Given the description of an element on the screen output the (x, y) to click on. 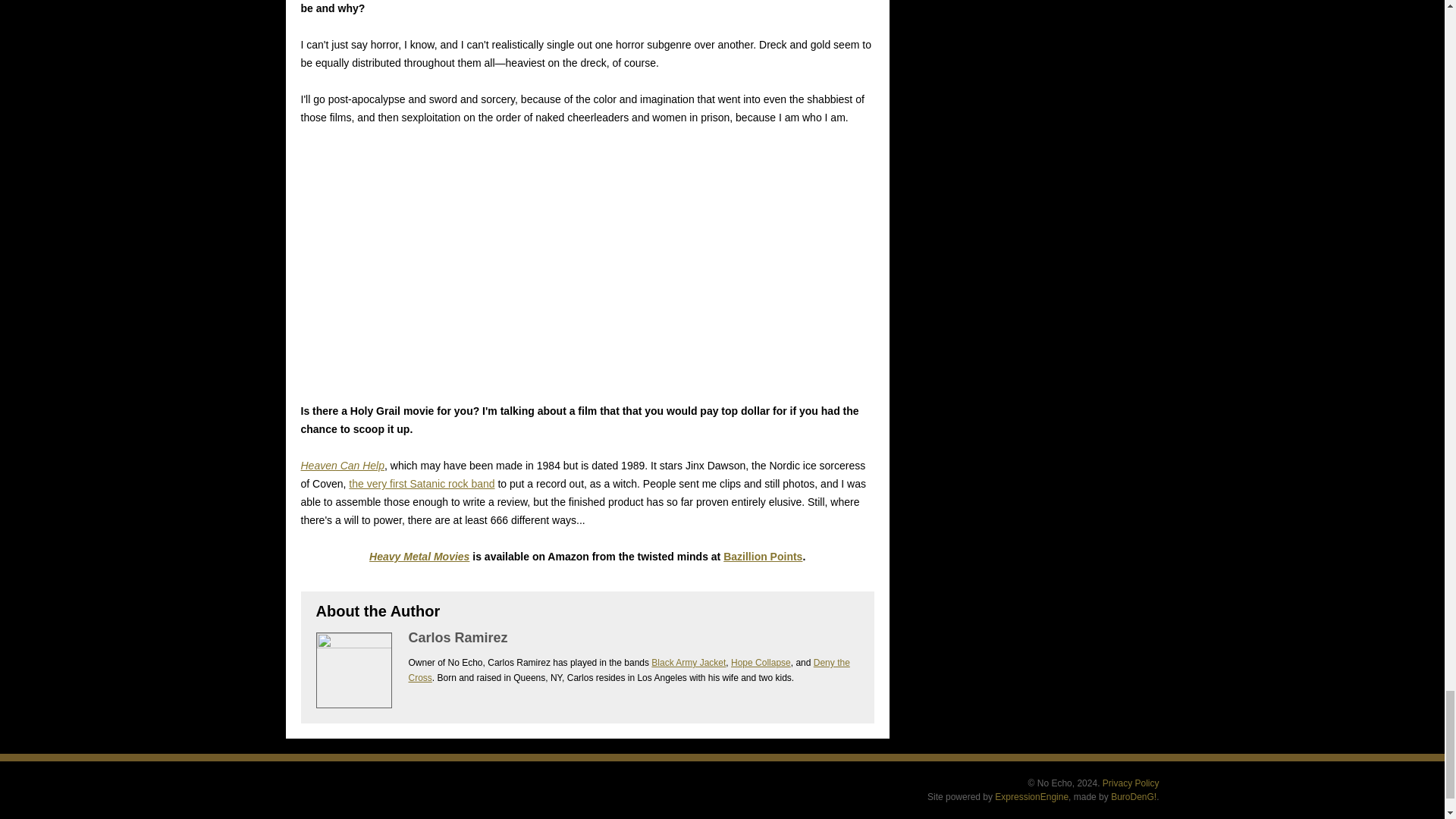
Black Army Jacket (687, 662)
Heavy Metal Movies (418, 556)
Hope Collapse (760, 662)
Heaven Can Help (341, 465)
Deny the Cross (627, 670)
the very first Satanic rock band (422, 483)
Bazillion Points (762, 556)
